Given the description of an element on the screen output the (x, y) to click on. 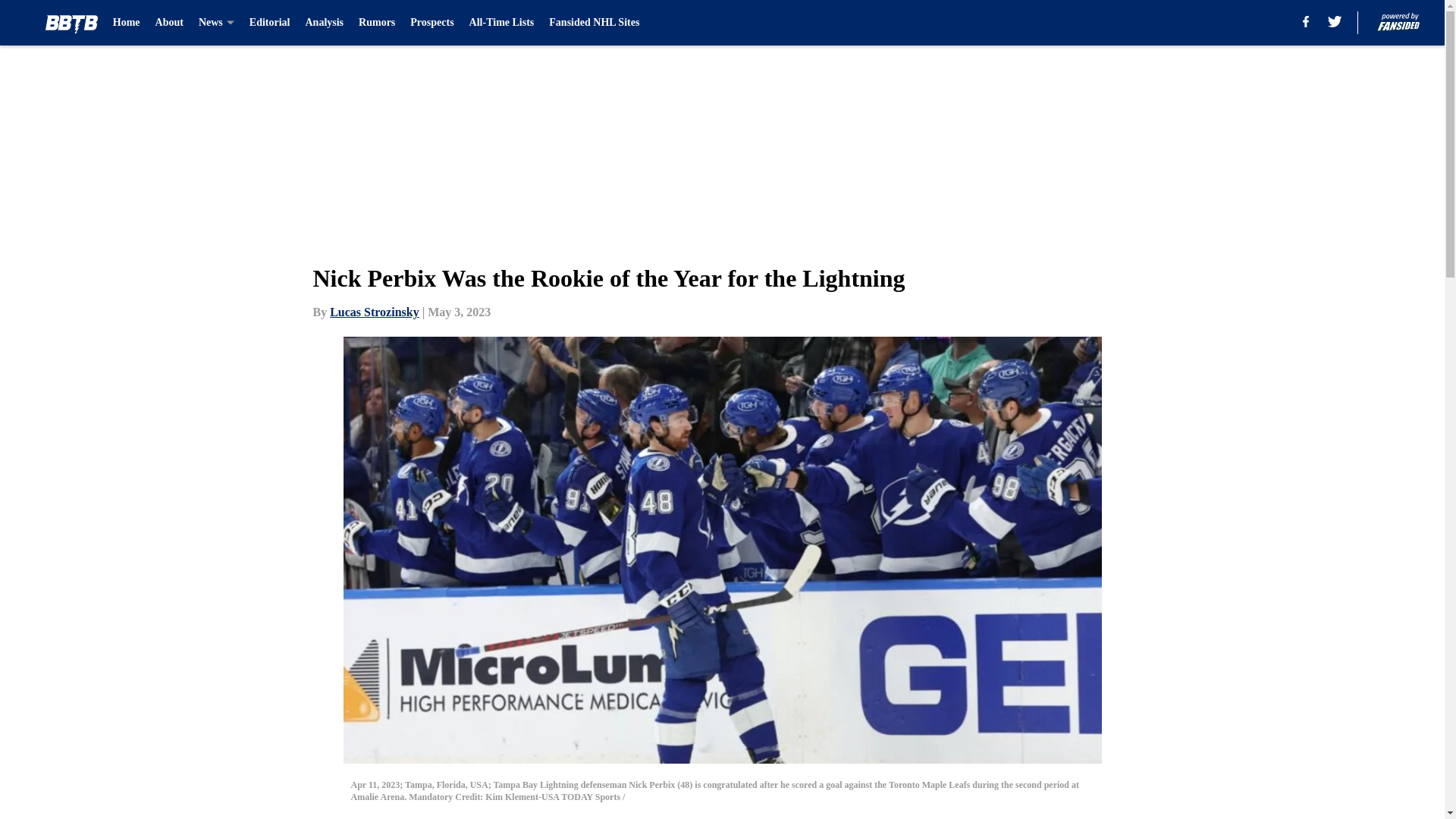
About (169, 22)
Lucas Strozinsky (374, 311)
Home (126, 22)
All-Time Lists (501, 22)
Fansided NHL Sites (593, 22)
Editorial (268, 22)
Analysis (323, 22)
Rumors (376, 22)
Prospects (431, 22)
